Given the description of an element on the screen output the (x, y) to click on. 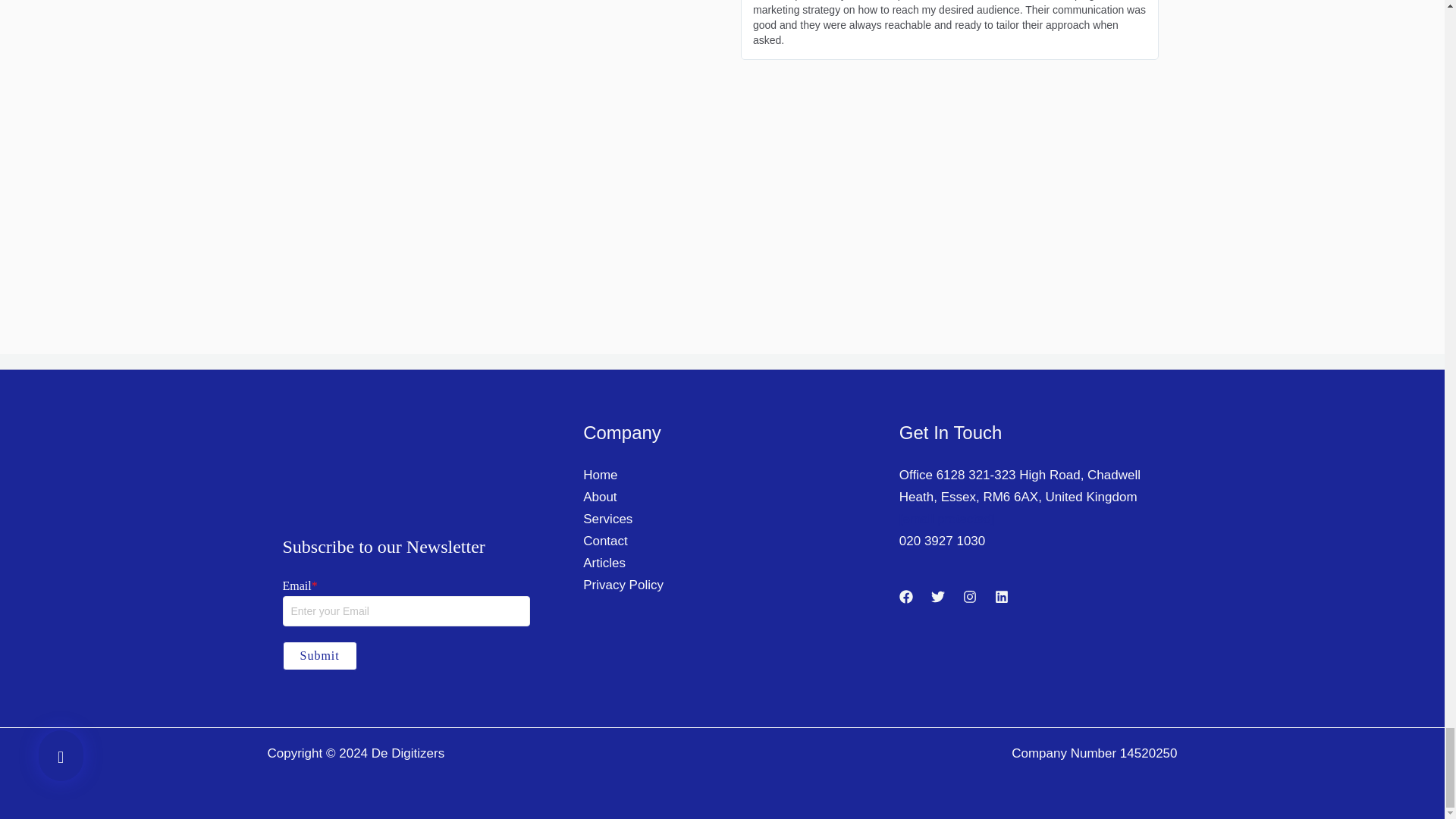
Enter your Email (405, 611)
